Given the description of an element on the screen output the (x, y) to click on. 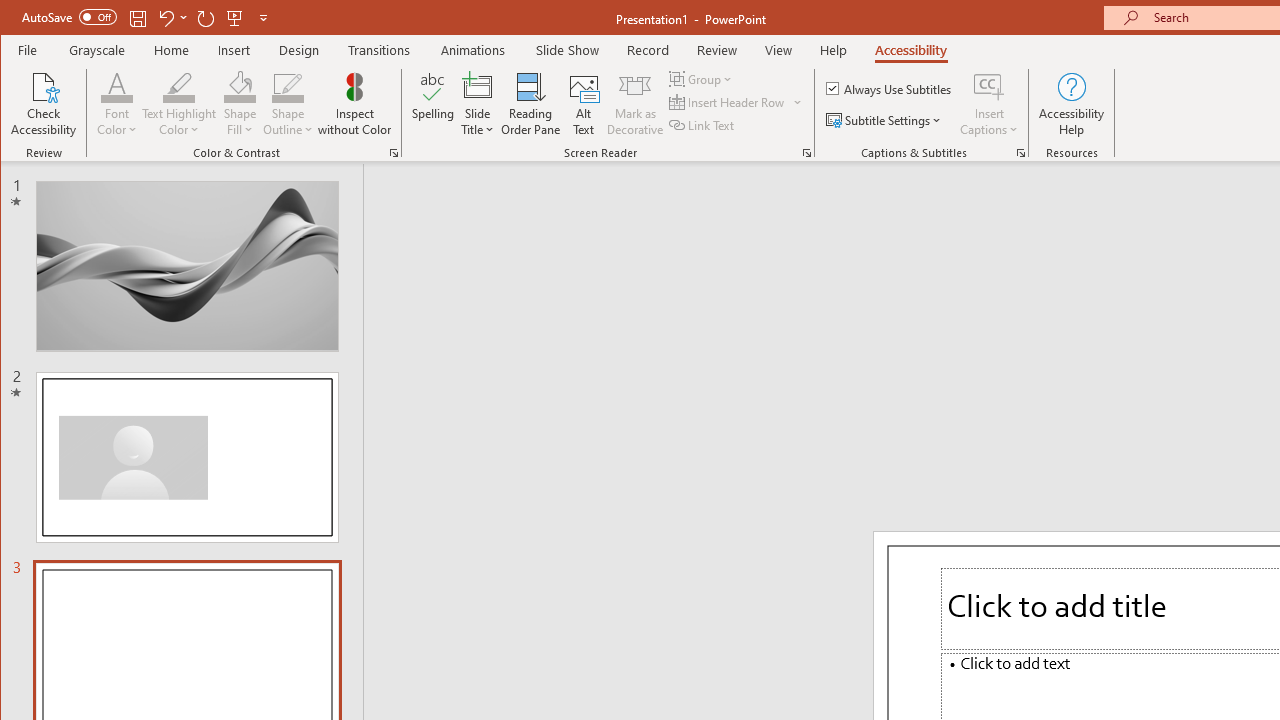
Inspect without Color (355, 104)
Screen Reader (806, 152)
Link Text (703, 124)
